Given the description of an element on the screen output the (x, y) to click on. 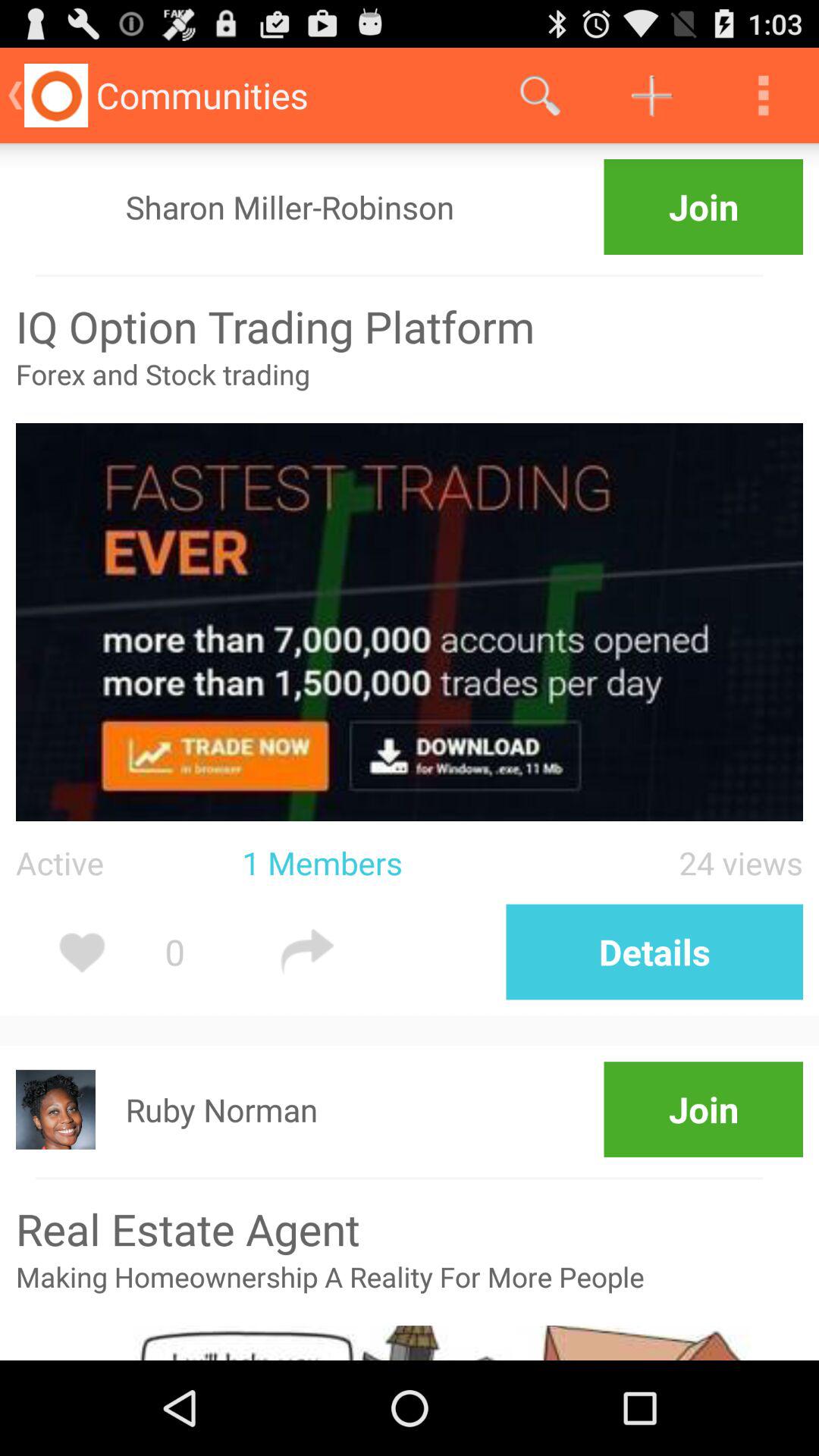
scroll to the forex and stock (409, 389)
